Given the description of an element on the screen output the (x, y) to click on. 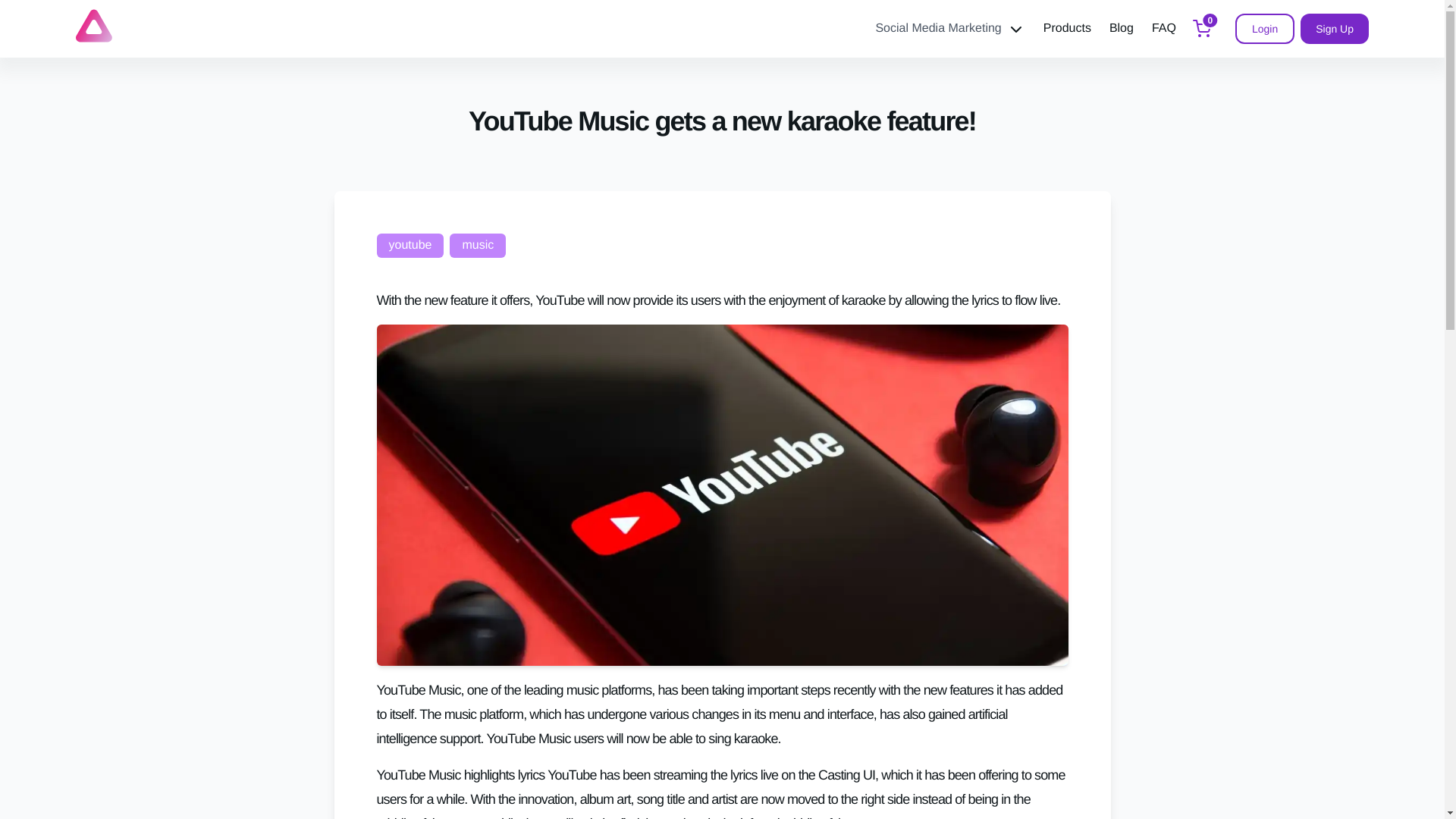
Sign Up (1334, 28)
0 (1201, 28)
Login (1264, 28)
Social Media Marketing (950, 28)
Expensivethanfree Logo (93, 25)
